Given the description of an element on the screen output the (x, y) to click on. 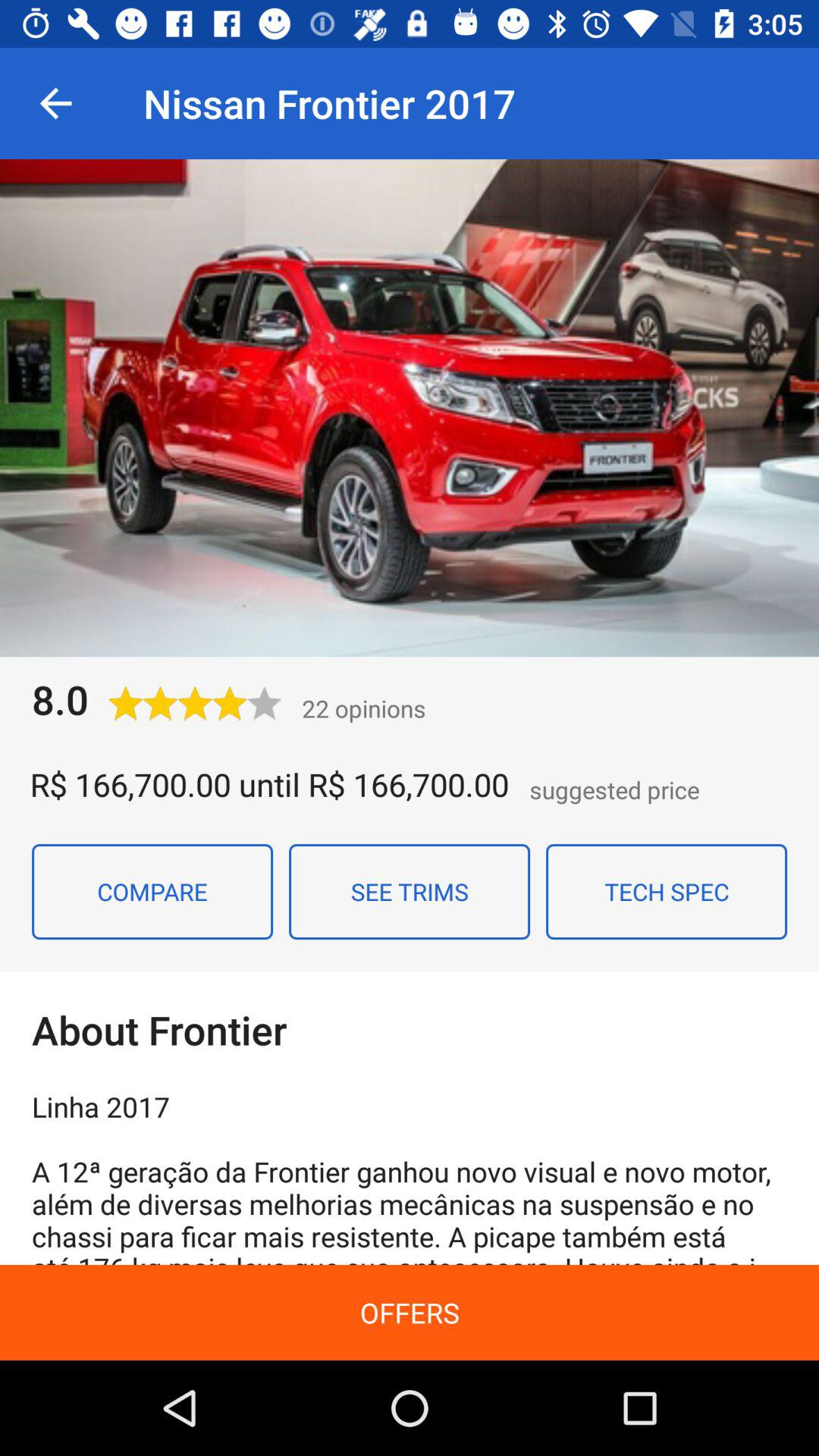
flip to offers icon (409, 1312)
